Given the description of an element on the screen output the (x, y) to click on. 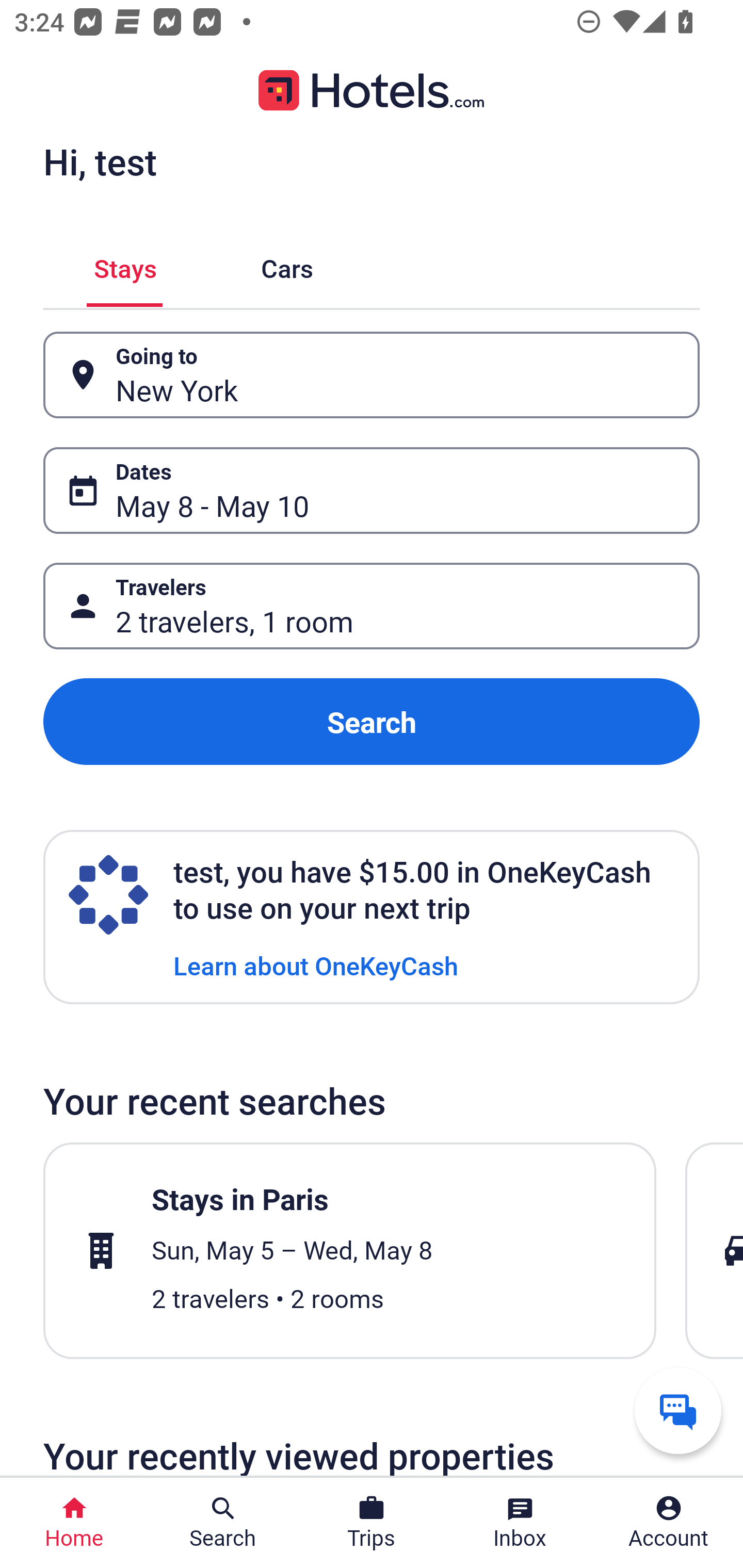
Hi, test (99, 161)
Cars (286, 265)
Going to Button New York (371, 375)
Dates Button May 8 - May 10 (371, 489)
Travelers Button 2 travelers, 1 room (371, 605)
Search (371, 721)
Learn about OneKeyCash Learn about OneKeyCash Link (315, 964)
Get help from a virtual agent (677, 1410)
Search Search Button (222, 1522)
Trips Trips Button (371, 1522)
Inbox Inbox Button (519, 1522)
Account Profile. Button (668, 1522)
